Given the description of an element on the screen output the (x, y) to click on. 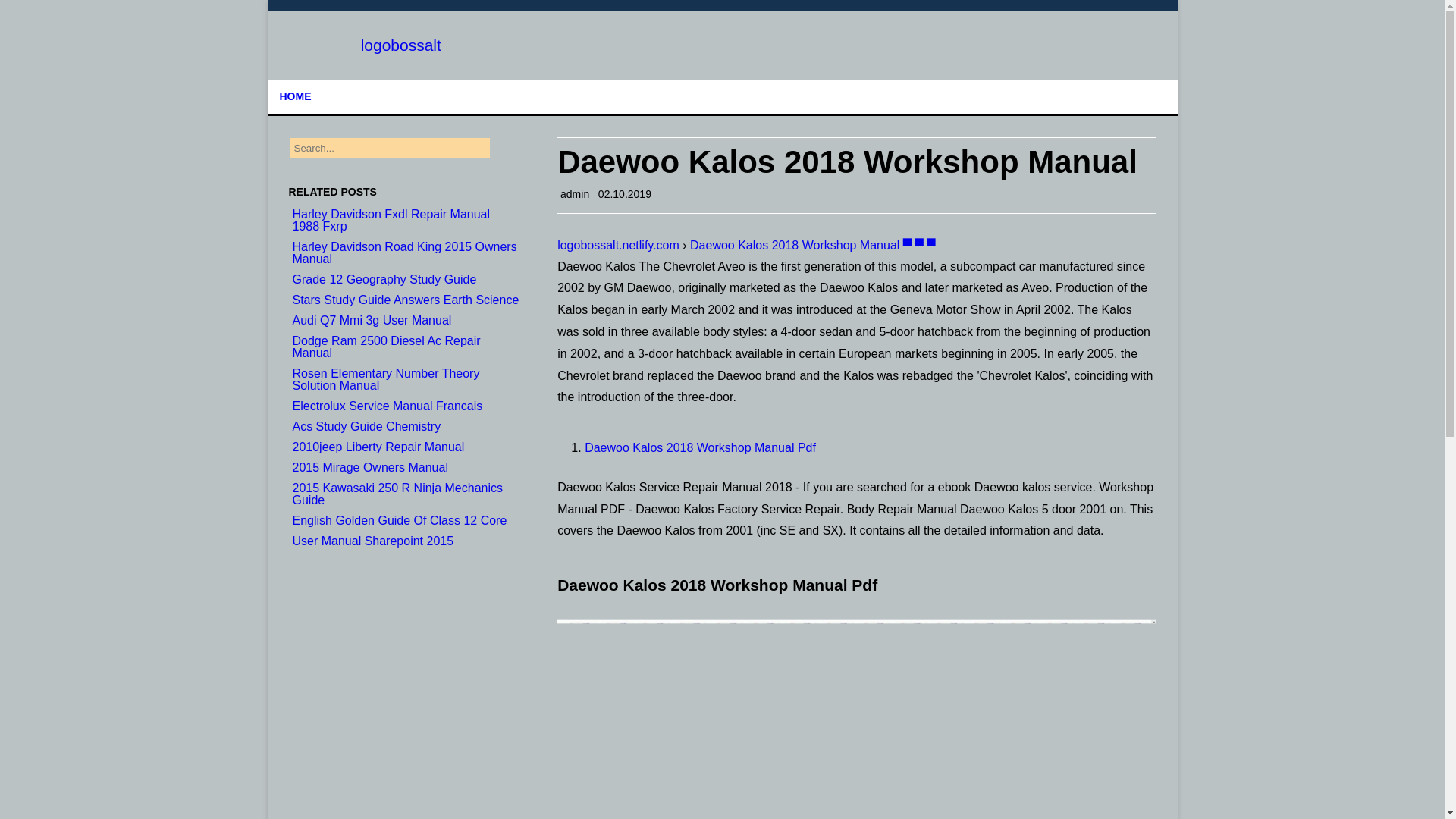
User Manual Sharepoint 2015 (373, 540)
Search for: (389, 147)
2010jeep Liberty Repair Manual (378, 446)
Daewoo Kalos 2018 Workshop Manual Pdf (700, 447)
2015 Kawasaki 250 R Ninja Mechanics Guide (397, 493)
Electrolux Service Manual Francais (387, 405)
logobossalt.netlify.com (618, 245)
2015 Mirage Owners Manual (370, 467)
logobossalt (401, 44)
HOME (295, 96)
